Given the description of an element on the screen output the (x, y) to click on. 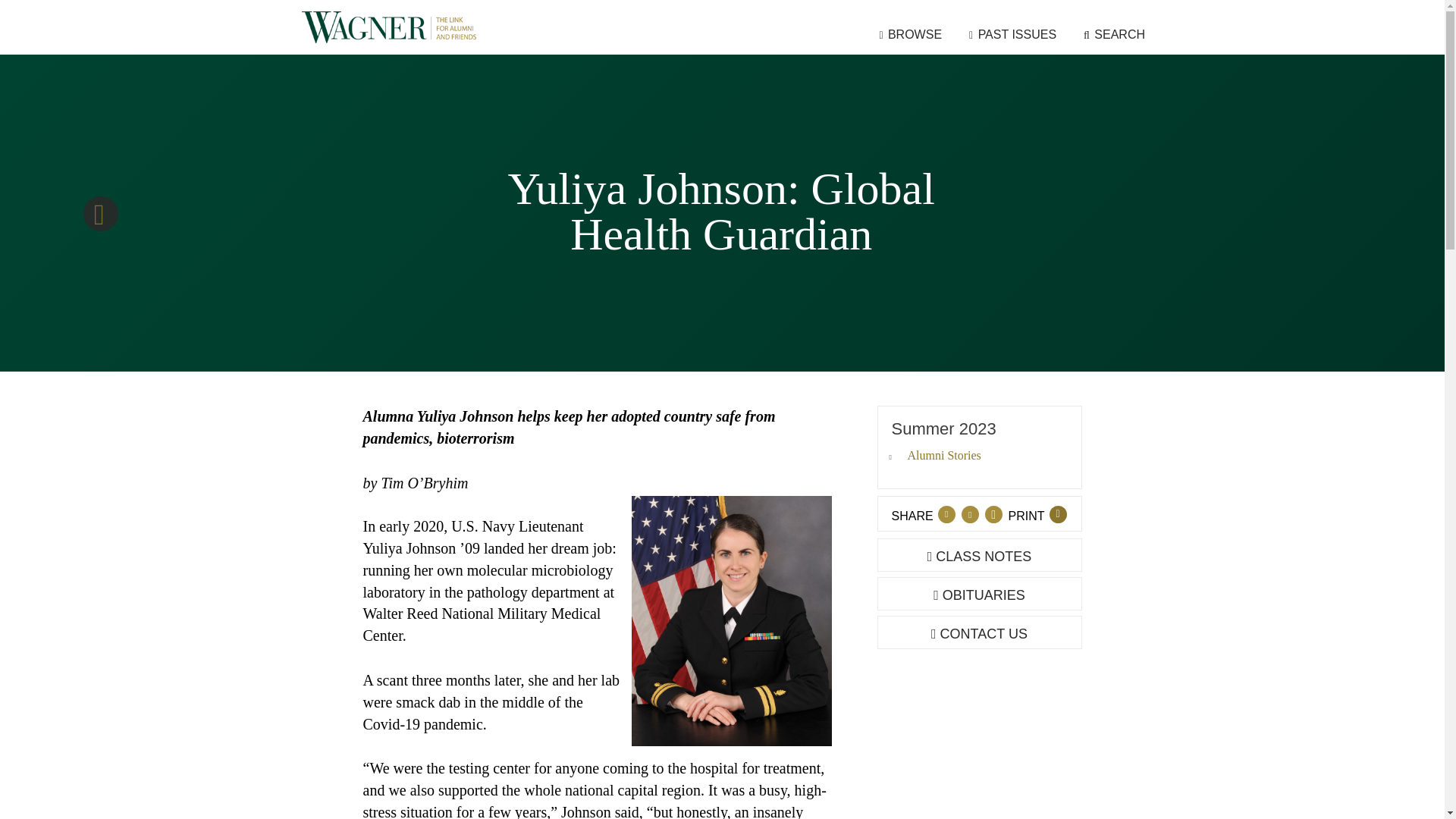
BROWSE (909, 33)
PAST ISSUES (1012, 33)
SEARCH (1114, 33)
